Given the description of an element on the screen output the (x, y) to click on. 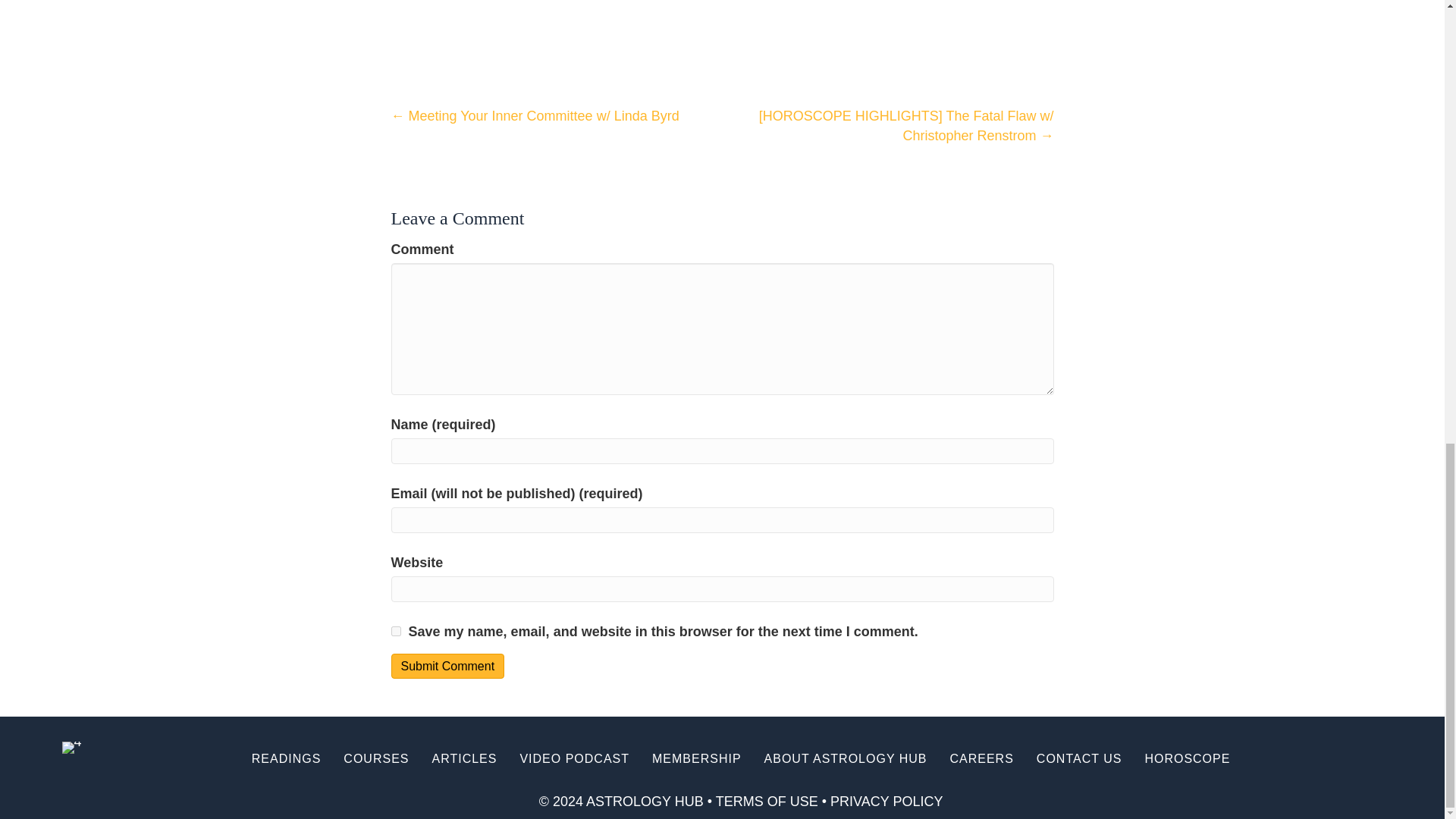
Submit Comment (448, 665)
yes (396, 631)
